Given the description of an element on the screen output the (x, y) to click on. 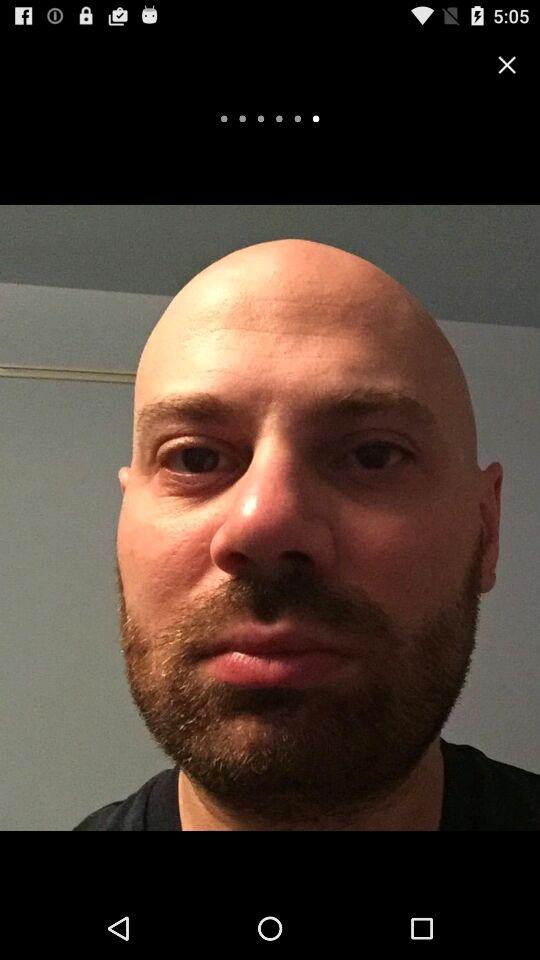
close option (507, 64)
